Given the description of an element on the screen output the (x, y) to click on. 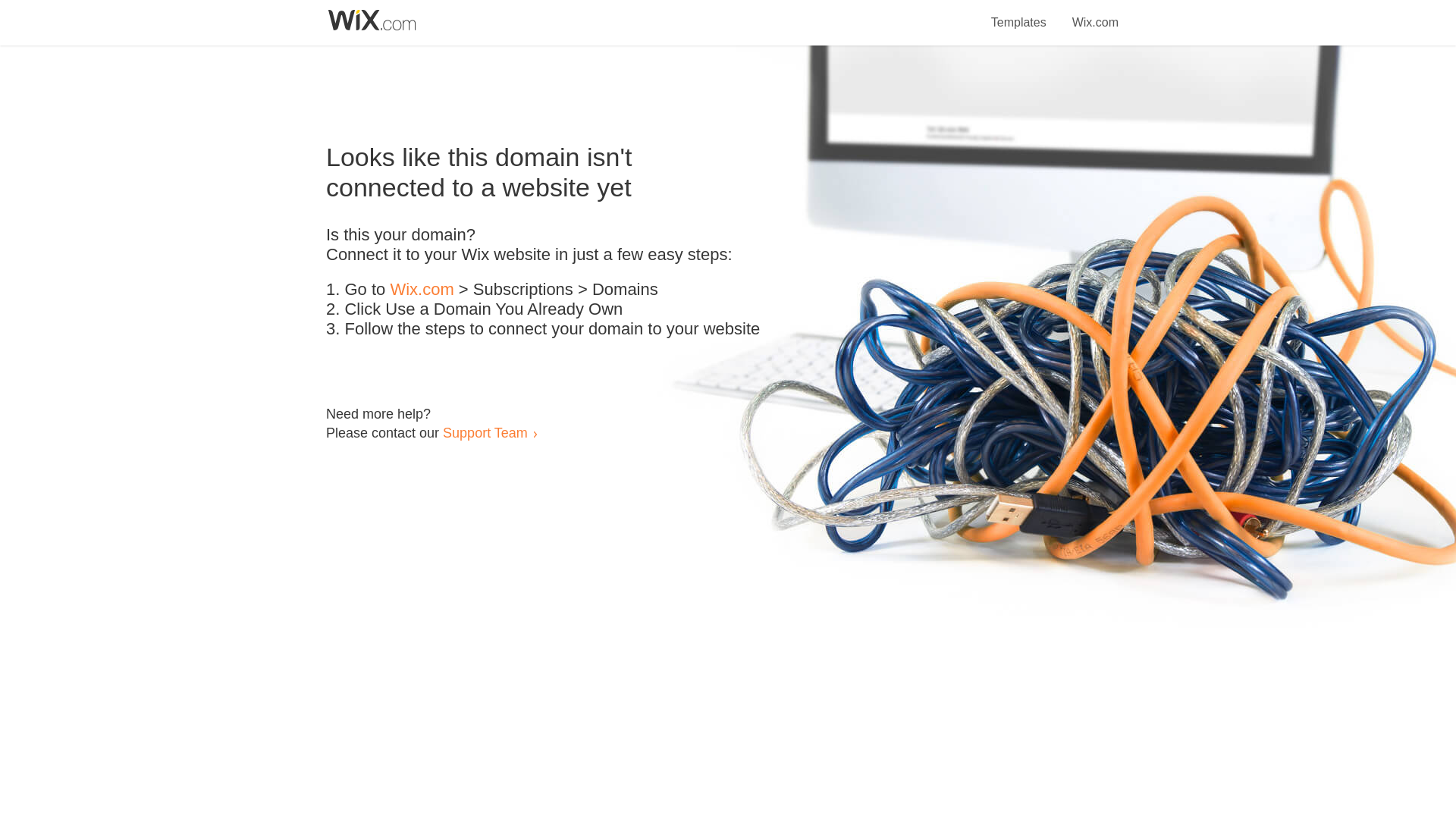
Support Team (484, 432)
Wix.com (421, 289)
Templates (1018, 14)
Wix.com (1095, 14)
